Given the description of an element on the screen output the (x, y) to click on. 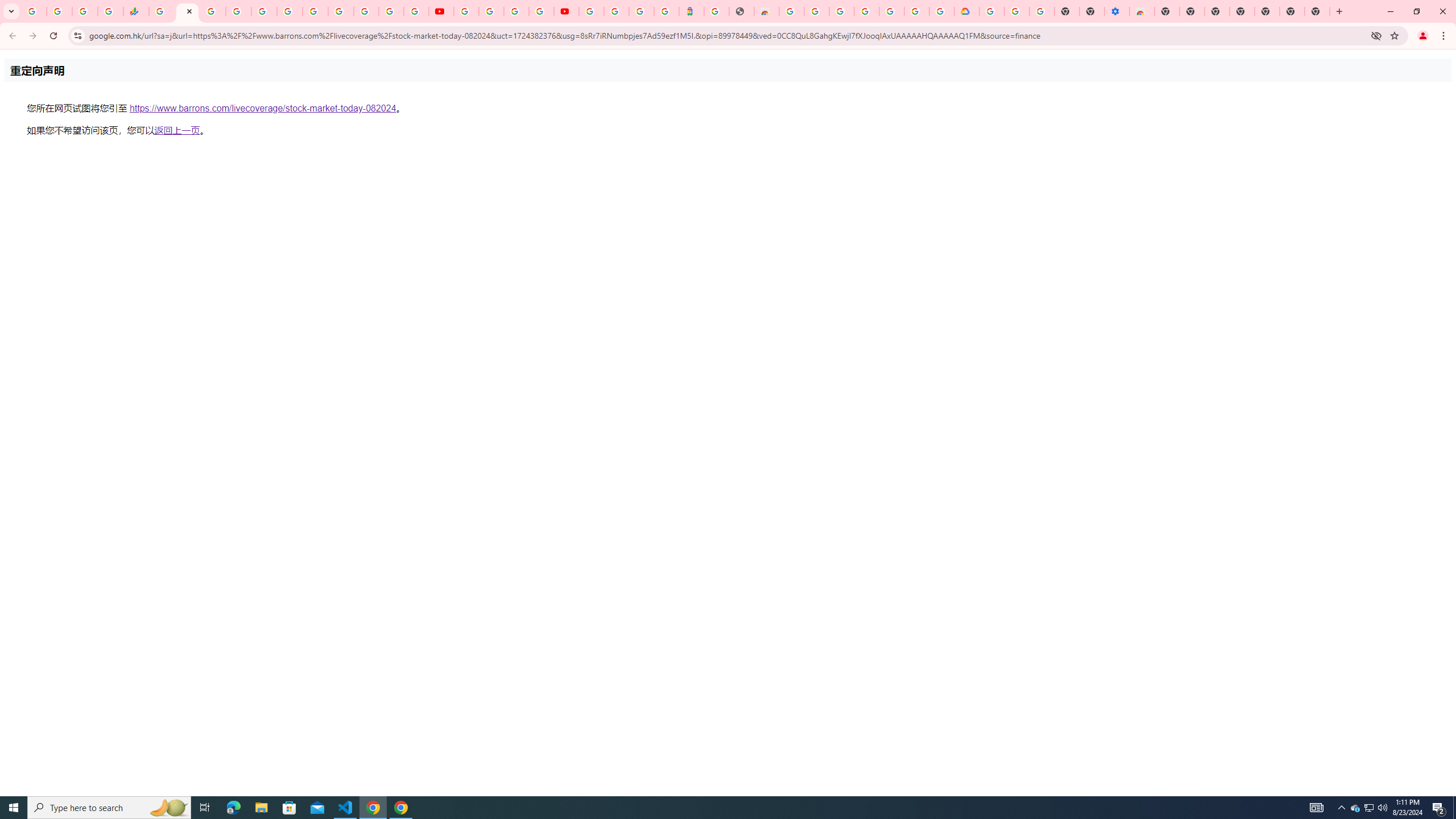
YouTube (340, 11)
